Given the description of an element on the screen output the (x, y) to click on. 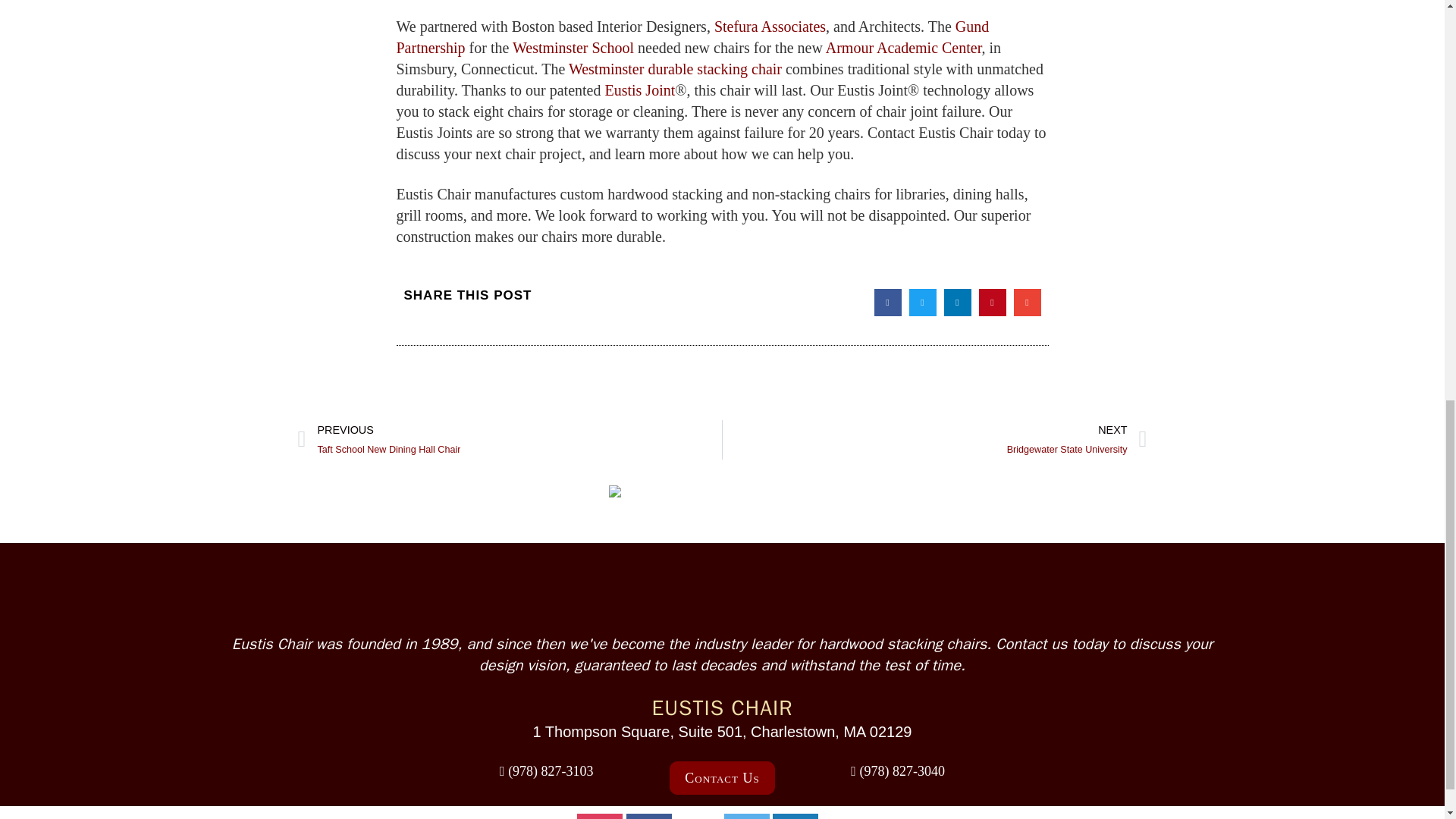
Chair: Westminster Stack; Stacking Hardwood - Eustis Chair (675, 68)
Eustis Joint - Eustis Enterprises Inc (639, 89)
www.stefura.com (769, 26)
